Given the description of an element on the screen output the (x, y) to click on. 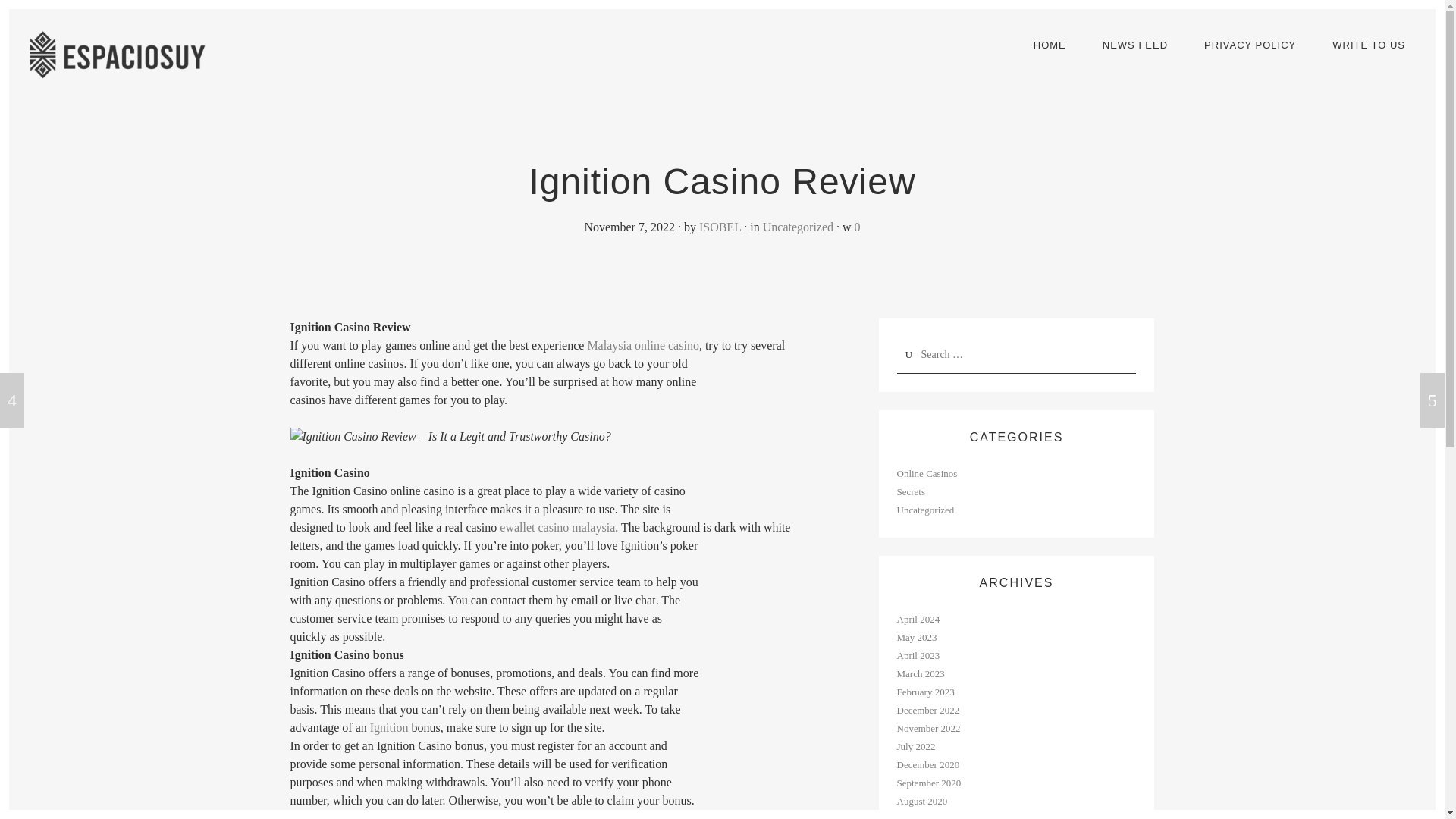
April 2024 (917, 618)
August 2020 (921, 800)
December 2022 (927, 709)
September 2020 (928, 782)
March 2023 (919, 673)
February 2023 (924, 691)
ewallet casino malaysia (556, 526)
Uncategorized (797, 226)
HOME (1049, 45)
Malaysia online casino (642, 345)
Secrets (910, 491)
PRIVACY POLICY (1250, 45)
November 2022 (927, 727)
Online Casinos (926, 473)
April 2023 (917, 655)
